Given the description of an element on the screen output the (x, y) to click on. 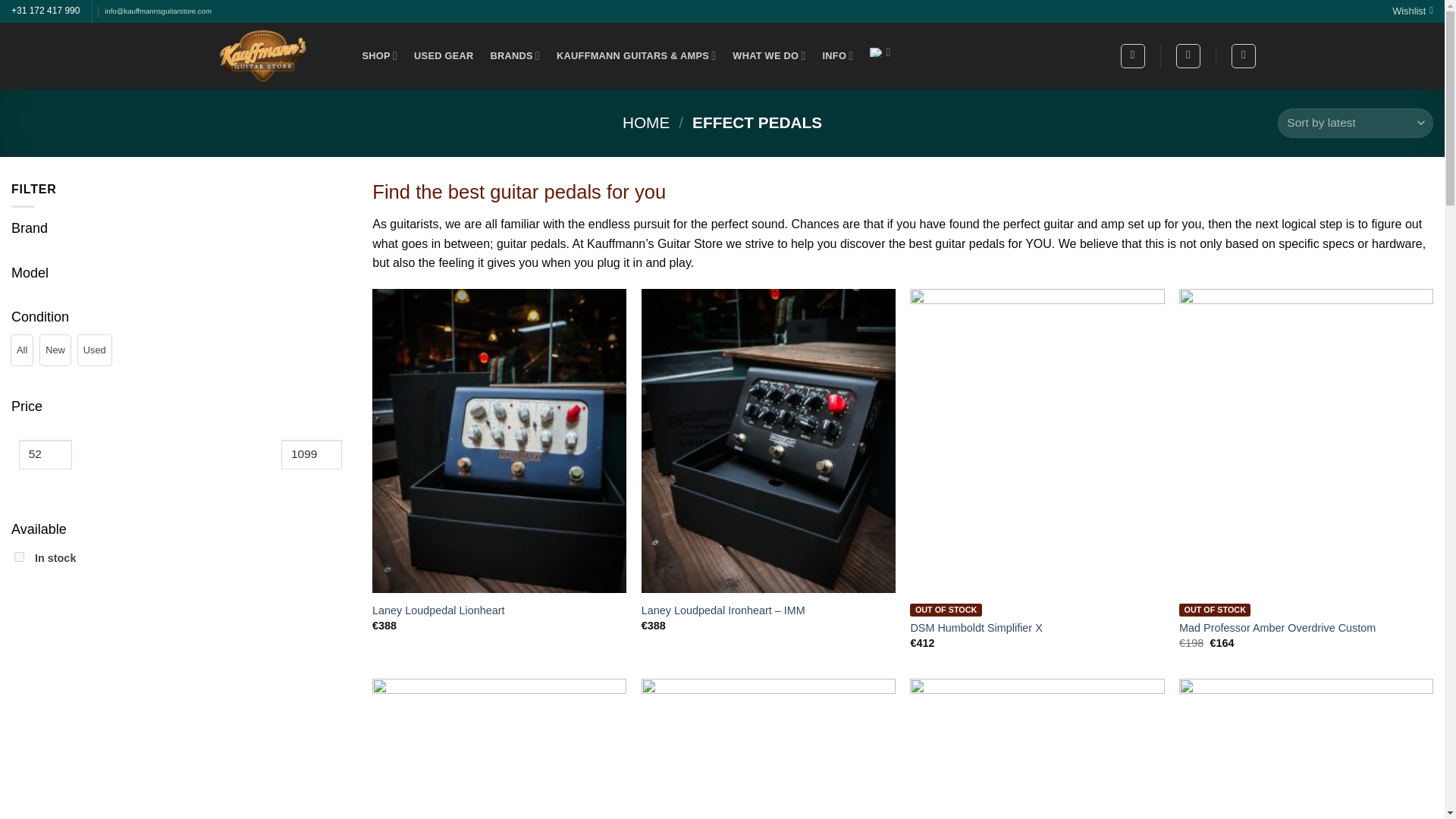
52 (44, 454)
Cart (1243, 55)
Login (1187, 55)
1099 (311, 454)
1 (19, 556)
USED GEAR (443, 55)
SHOP (379, 55)
Kauffmann's Guitar Store - Vintage Vibe Guitars (263, 55)
Wishlist (1411, 11)
BRANDS (514, 55)
